Given the description of an element on the screen output the (x, y) to click on. 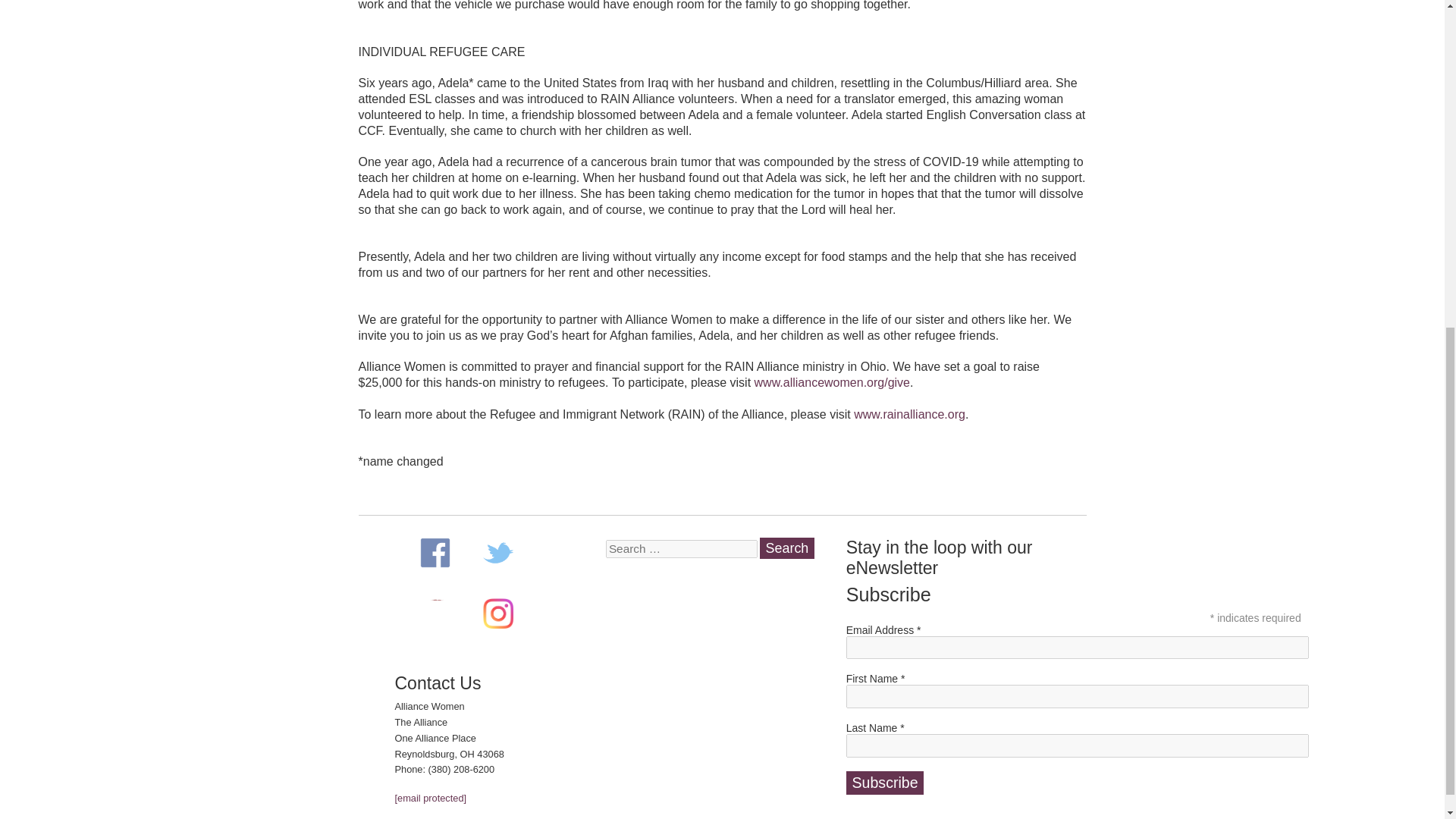
Subscribe (884, 782)
Great Commission Women on Facebook (434, 552)
Search (786, 547)
www.rainalliance.org (909, 413)
The Alliance (434, 613)
Search (786, 547)
Facebook (434, 552)
The Alliance (434, 613)
Subscribe (884, 782)
Search (786, 547)
